Given the description of an element on the screen output the (x, y) to click on. 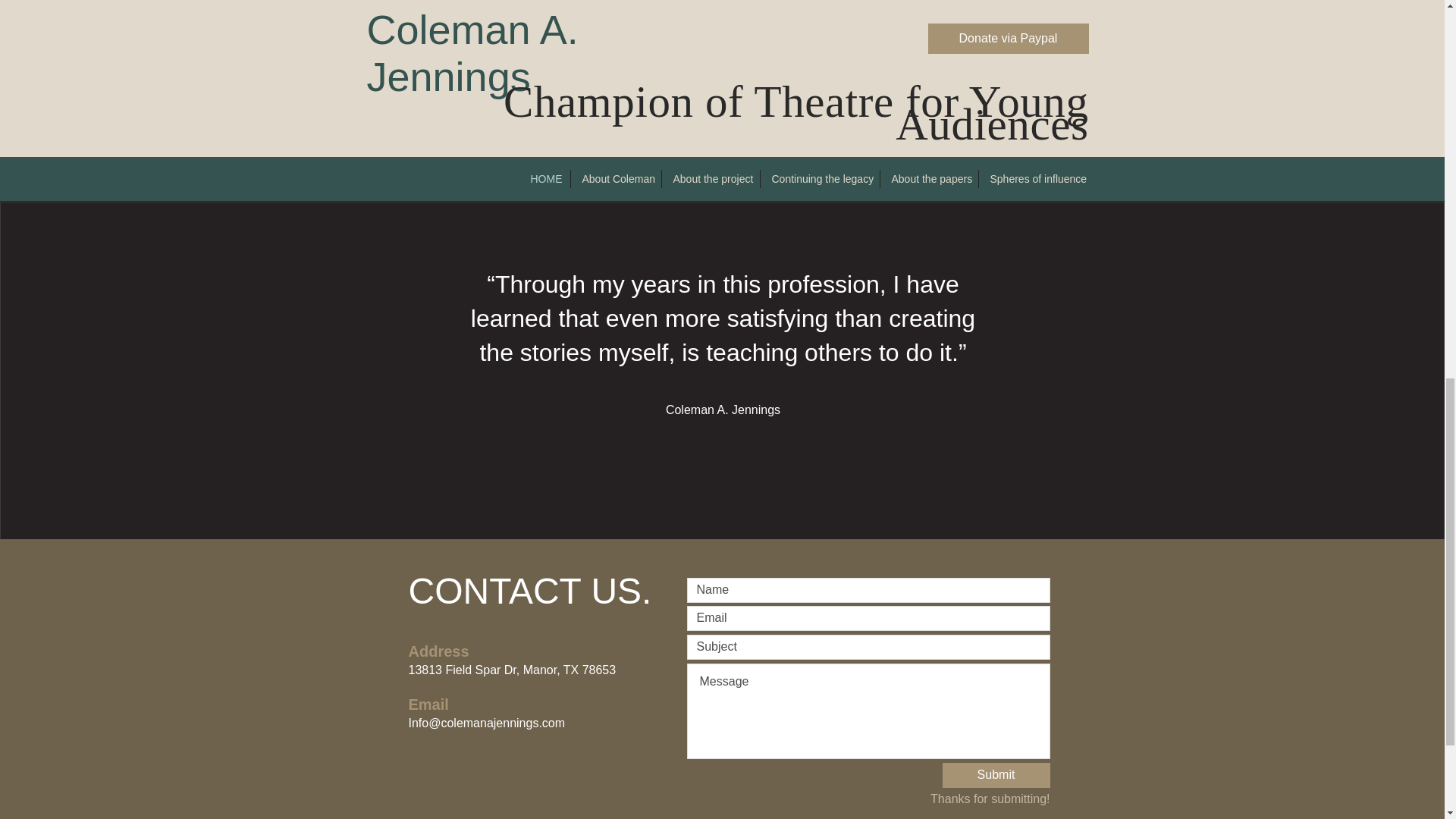
Submit (995, 774)
